Given the description of an element on the screen output the (x, y) to click on. 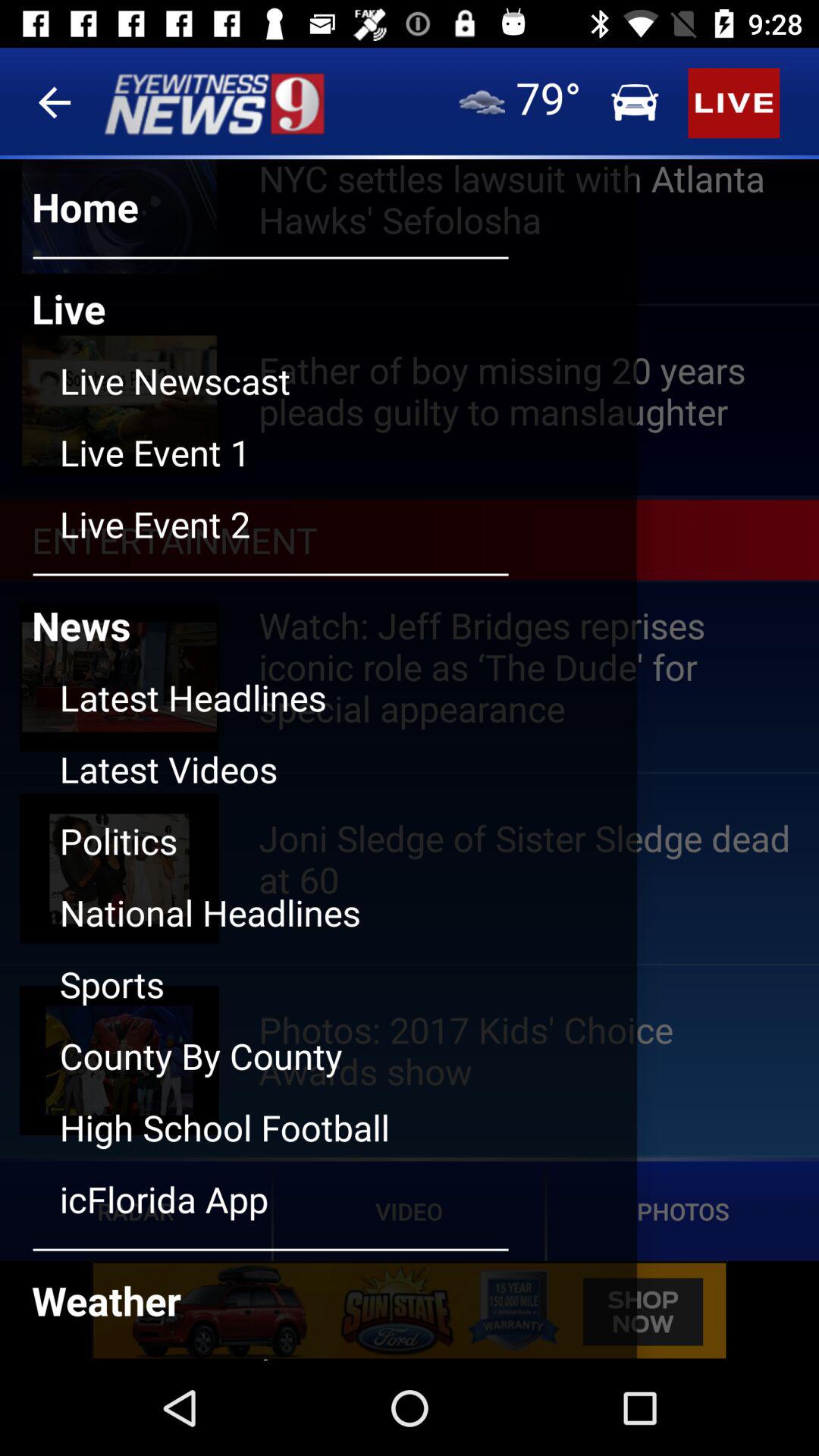
click on last option under news (348, 1210)
click on the fourth option under news (348, 923)
click on the county by county button below sports (348, 1067)
click on the sports button below national headlines (348, 995)
